Given the description of an element on the screen output the (x, y) to click on. 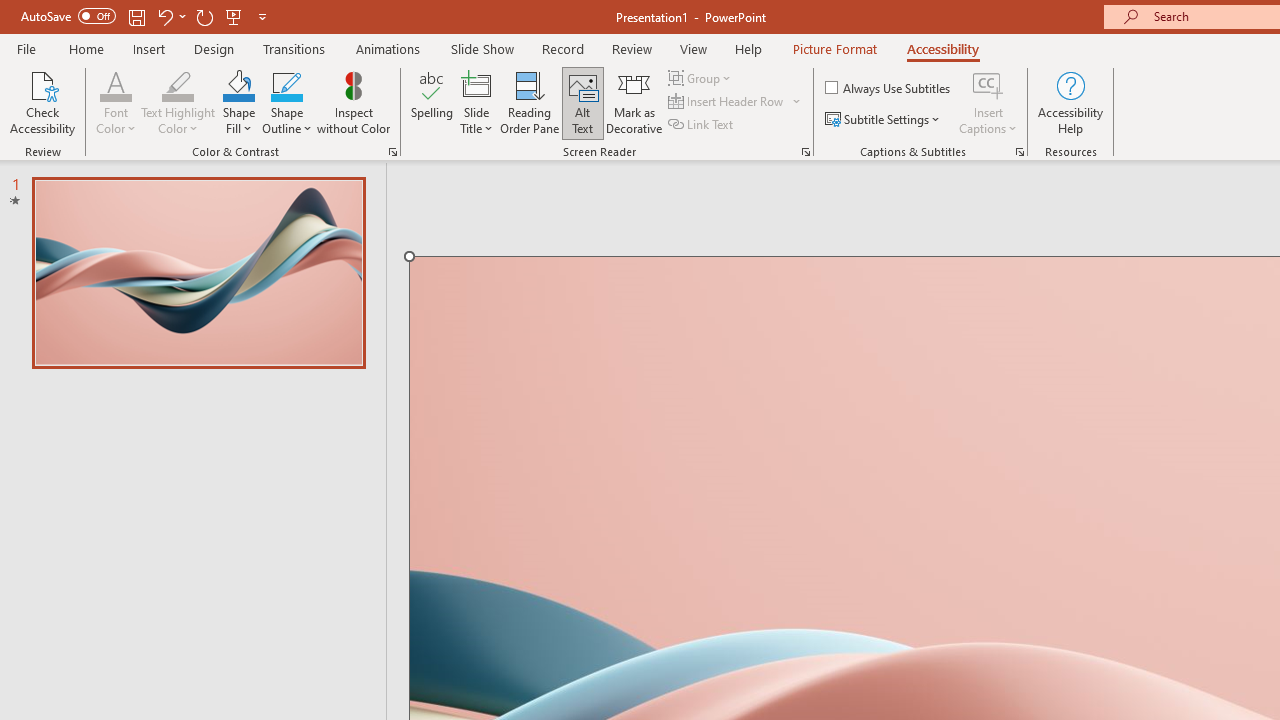
Subtitle Settings (884, 119)
Mark as Decorative (634, 102)
Color & Contrast (392, 151)
